Given the description of an element on the screen output the (x, y) to click on. 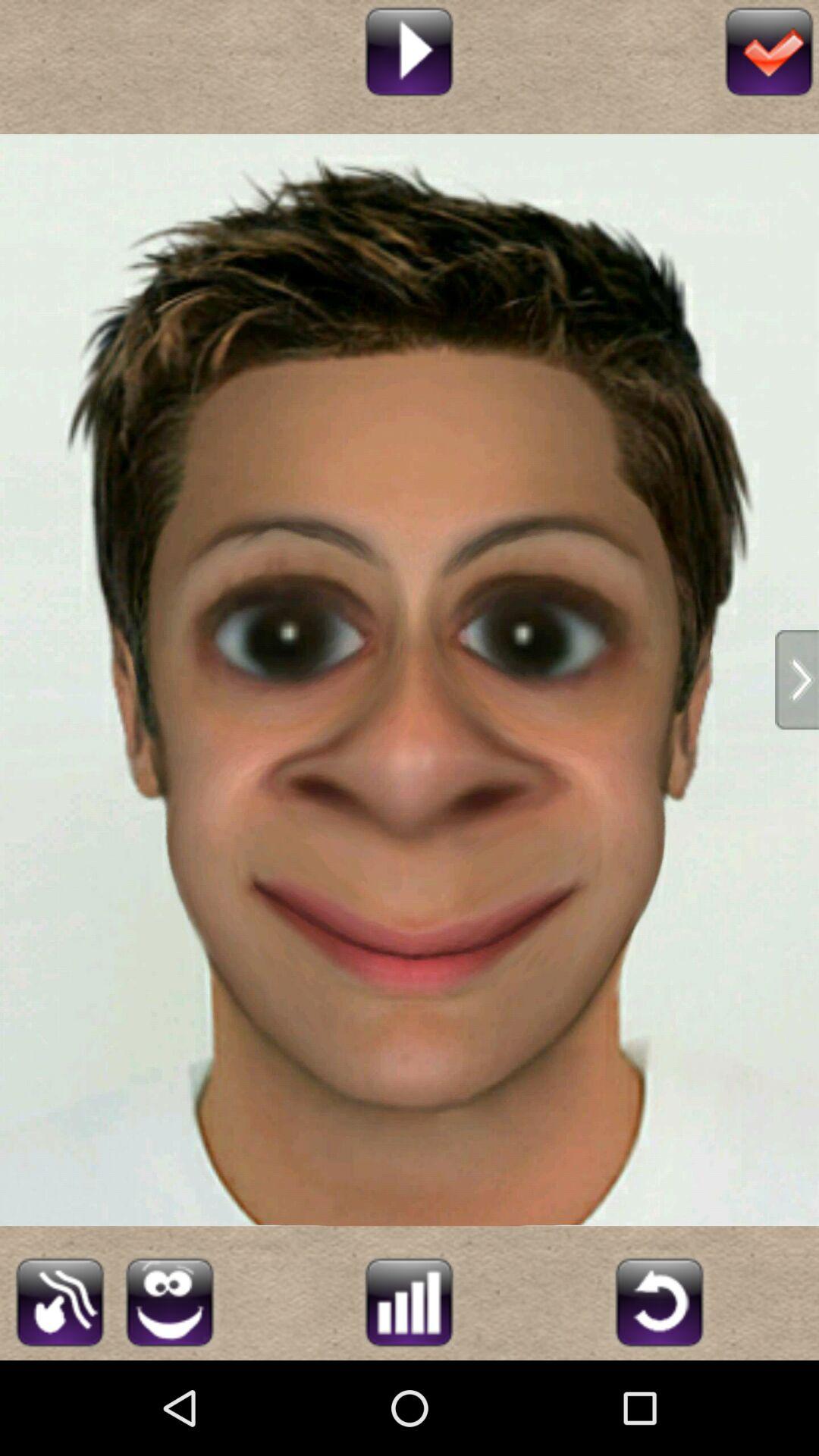
go to next page (797, 679)
